Given the description of an element on the screen output the (x, y) to click on. 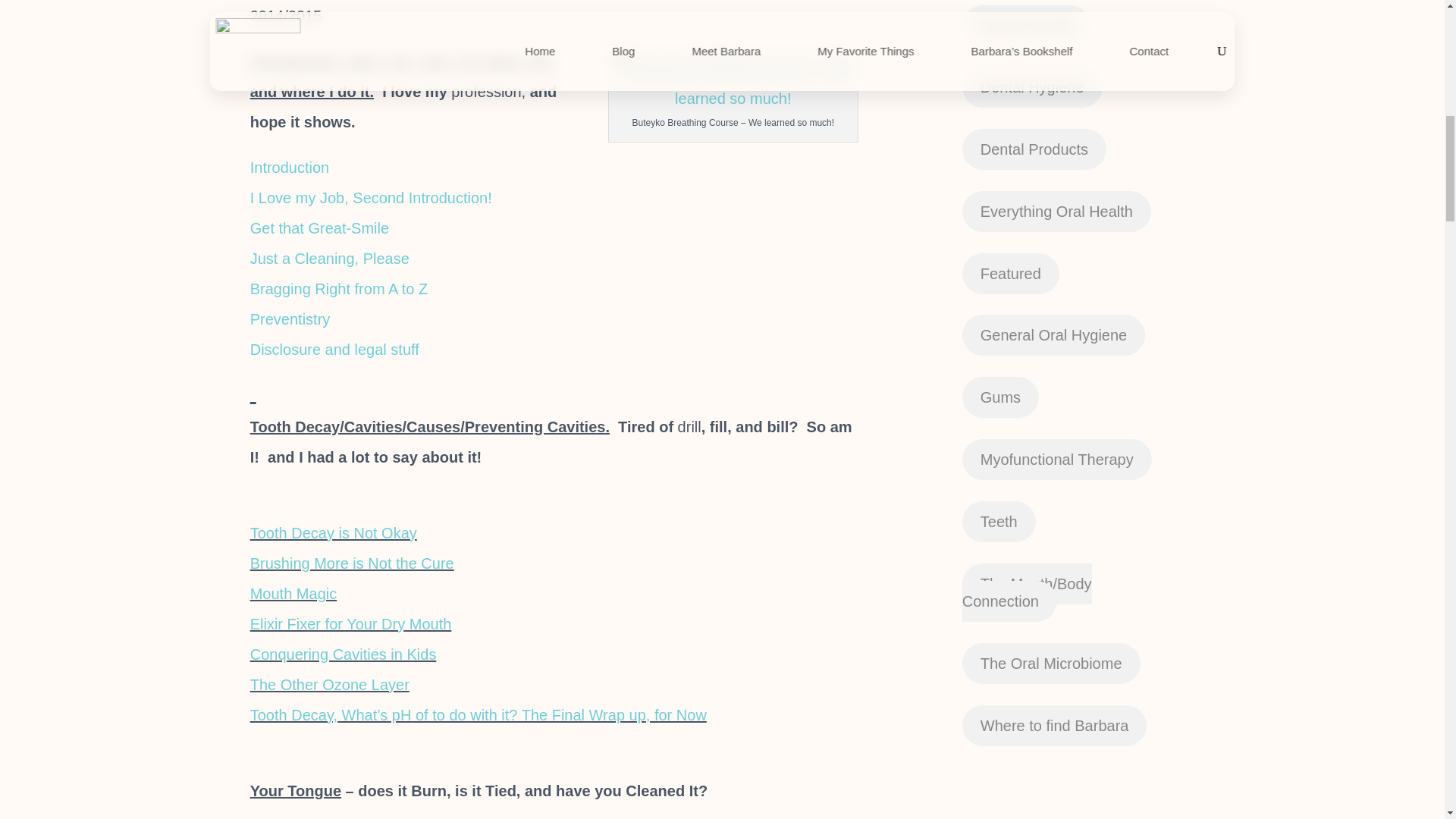
Elixir Fixer for Your Dry Mouth (350, 623)
The Other Ozone Layer (329, 684)
Mouth Magic (293, 593)
Conquering Cavities in Kids (343, 654)
Brushing More is Not the Cure (352, 563)
Just a Cleaning, Please (329, 258)
Tooth Decay is Not Okay (333, 532)
Get that Great-Smile  (321, 228)
I Love my Job, Second Introduction! (371, 197)
Disclosure and legal stuff (334, 349)
Bragging Right from A to Z (339, 288)
Introduction (290, 167)
Preventistry (290, 319)
